Given the description of an element on the screen output the (x, y) to click on. 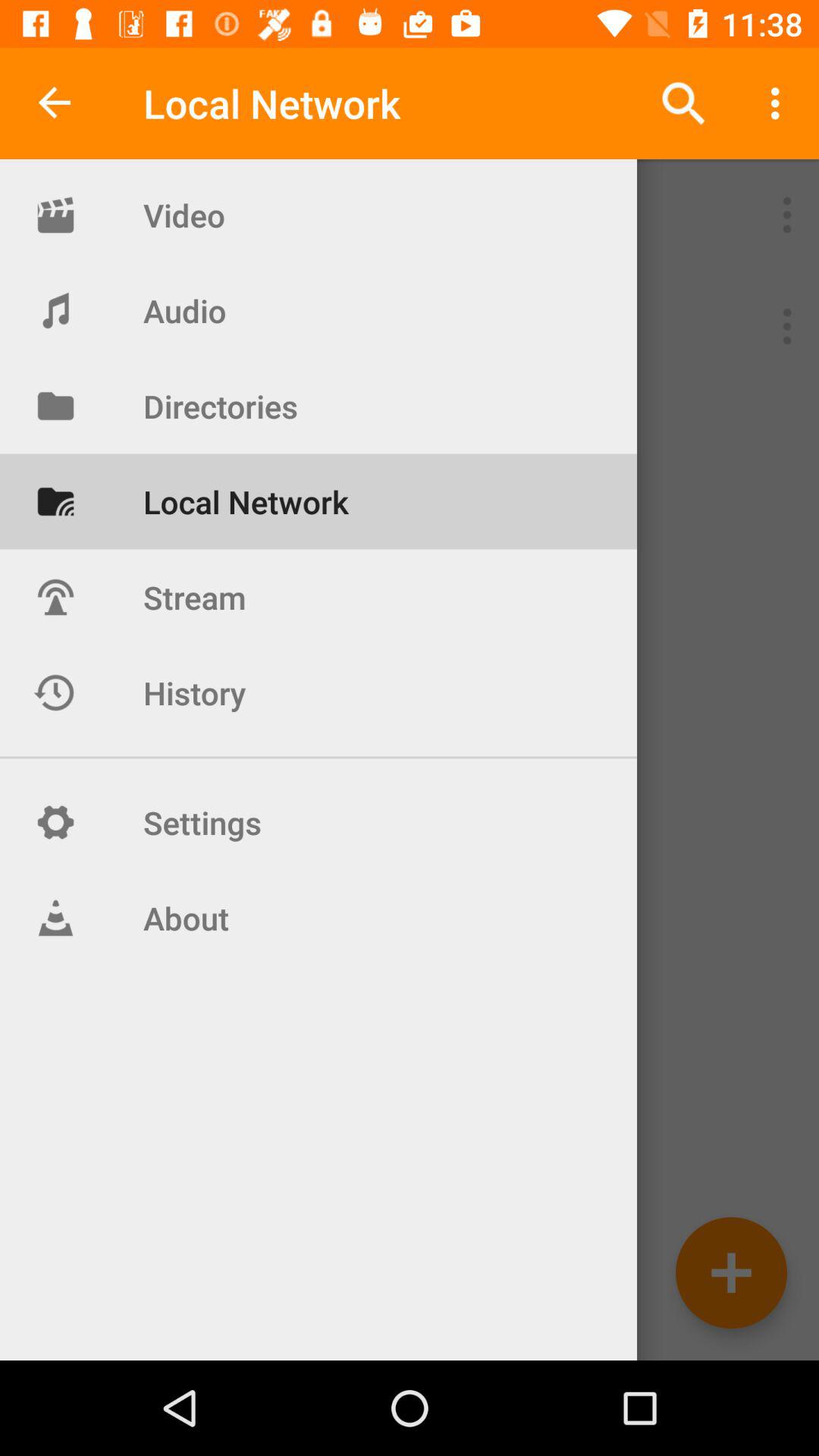
go do add (731, 1272)
